Given the description of an element on the screen output the (x, y) to click on. 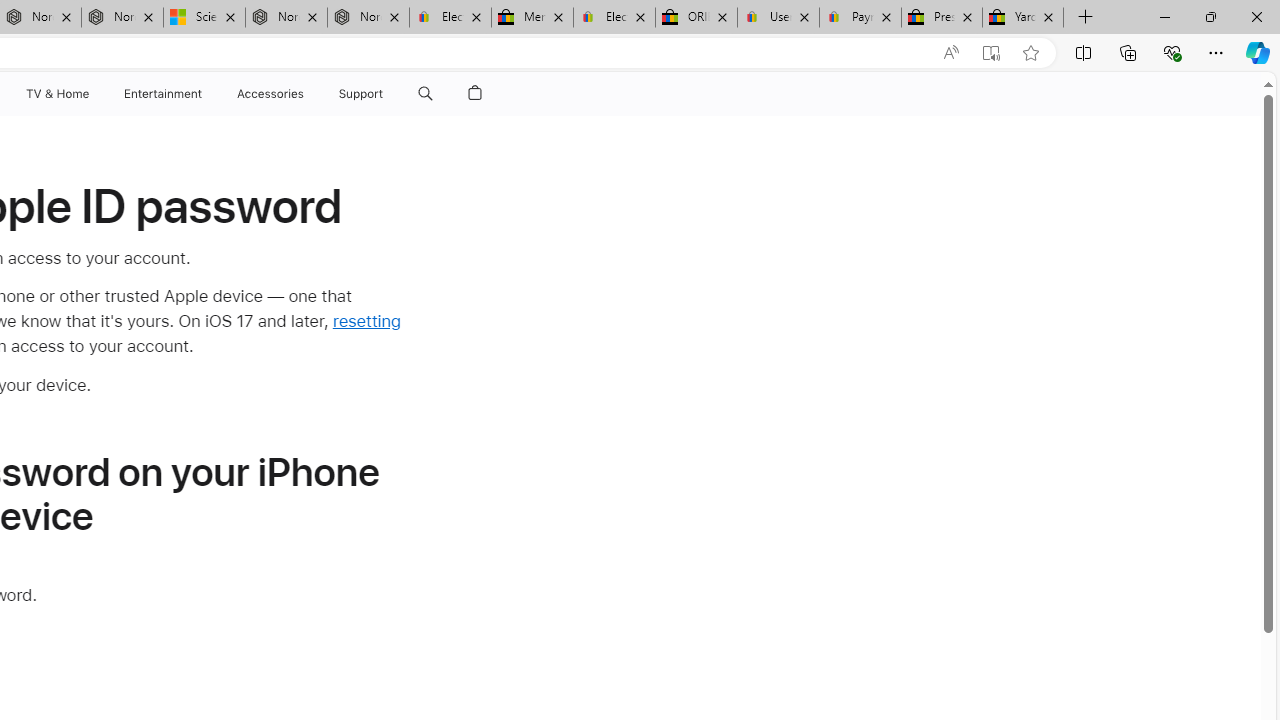
Entertainment menu (205, 93)
Class: globalnav-item globalnav-search shift-0-1 (425, 93)
Support (361, 93)
Class: globalnav-submenu-trigger-item (387, 93)
